Given the description of an element on the screen output the (x, y) to click on. 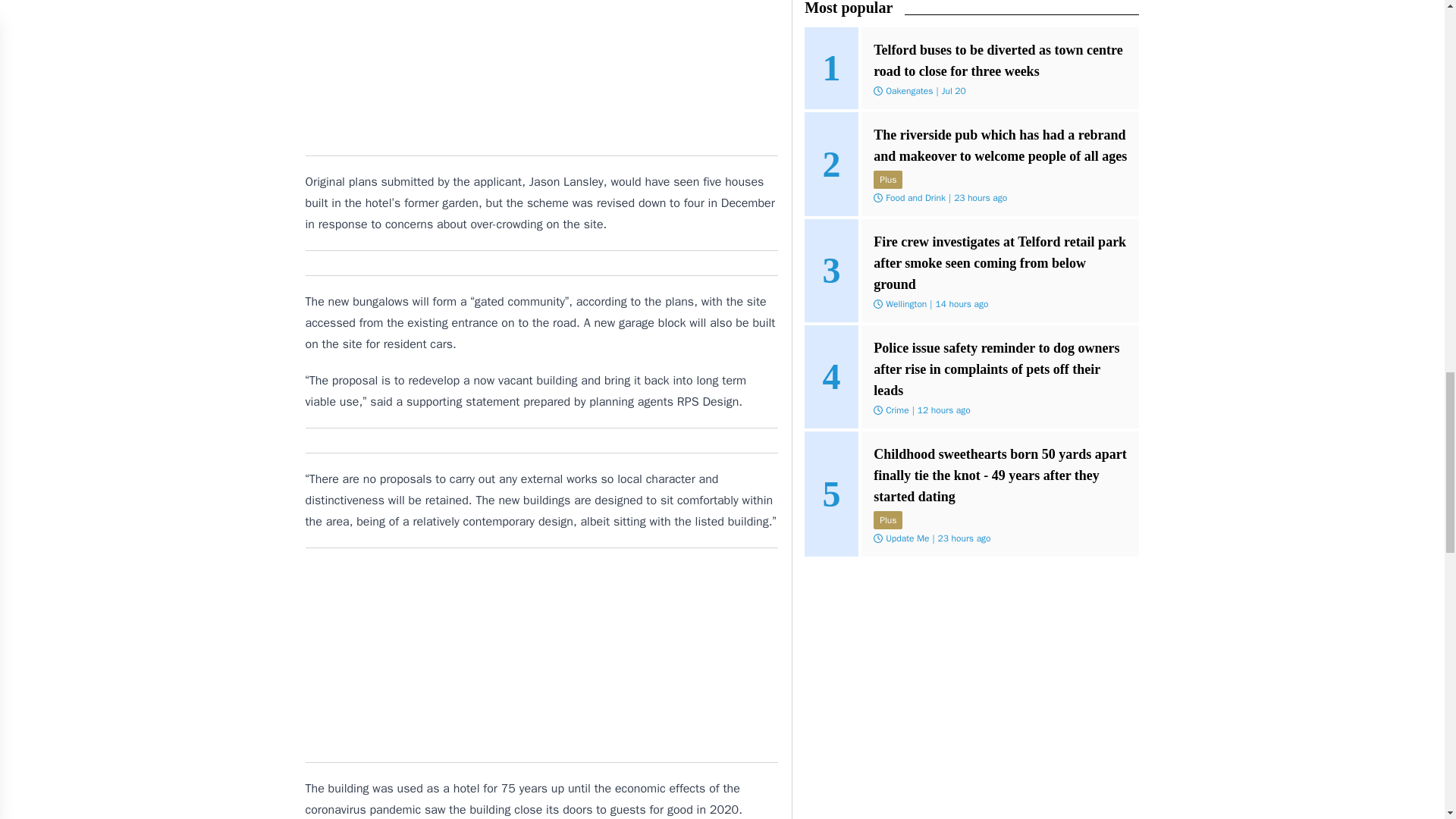
Crime (896, 409)
Update Me (906, 538)
Food and Drink (914, 196)
Oakengates (909, 91)
Wellington (905, 303)
